Given the description of an element on the screen output the (x, y) to click on. 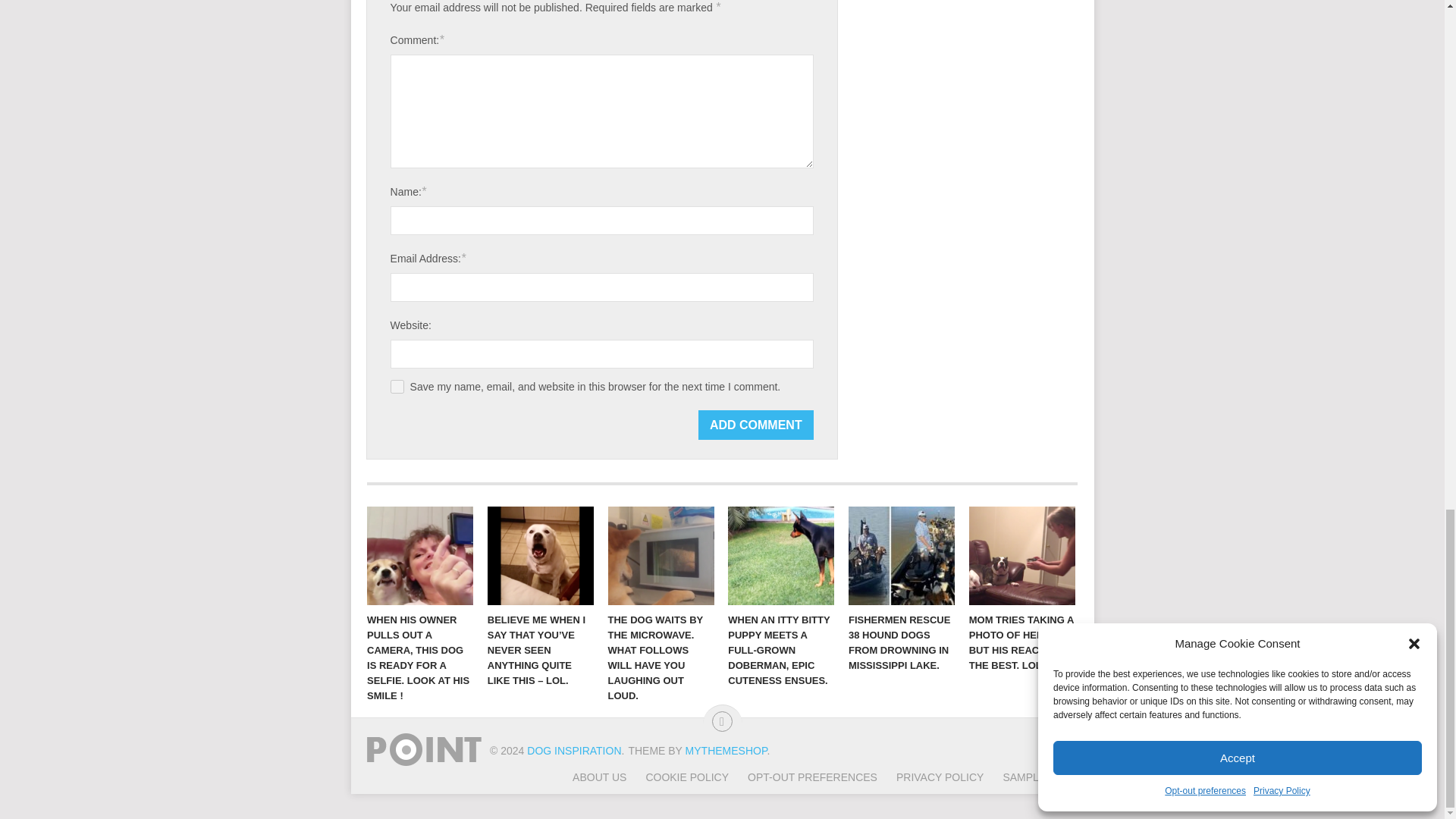
Add Comment (755, 424)
yes (397, 386)
Add Comment (755, 424)
